Given the description of an element on the screen output the (x, y) to click on. 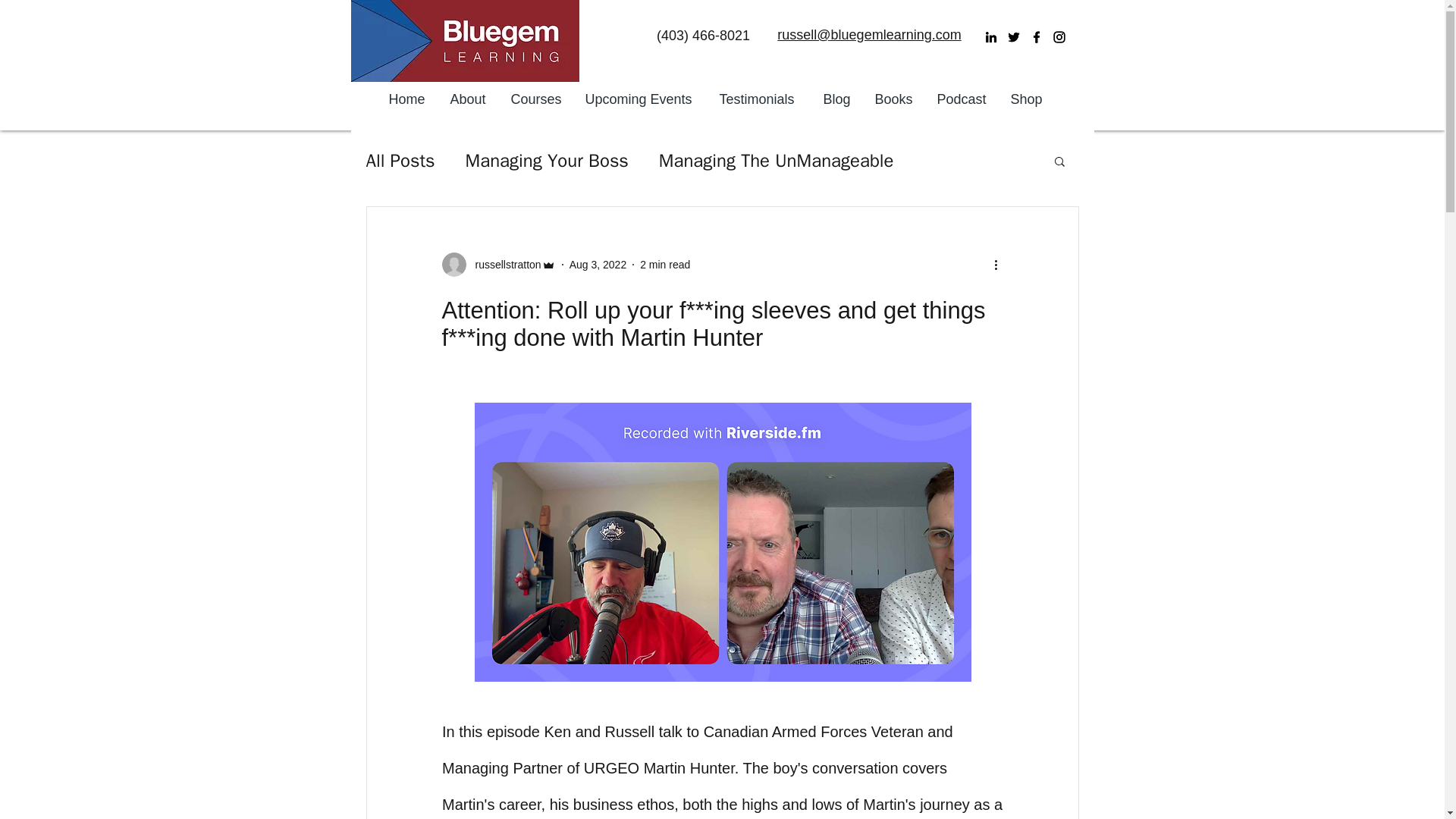
Managing The UnManageable (776, 160)
russellstratton (497, 264)
Blog (836, 98)
About (468, 98)
Testimonials (759, 98)
Courses (536, 98)
russellstratton (502, 263)
Managing Your Boss (546, 160)
Upcoming Events (640, 98)
Aug 3, 2022 (598, 263)
Podcast (961, 98)
All Posts (399, 160)
2 min read (665, 263)
Home (408, 98)
Shop (1026, 98)
